Given the description of an element on the screen output the (x, y) to click on. 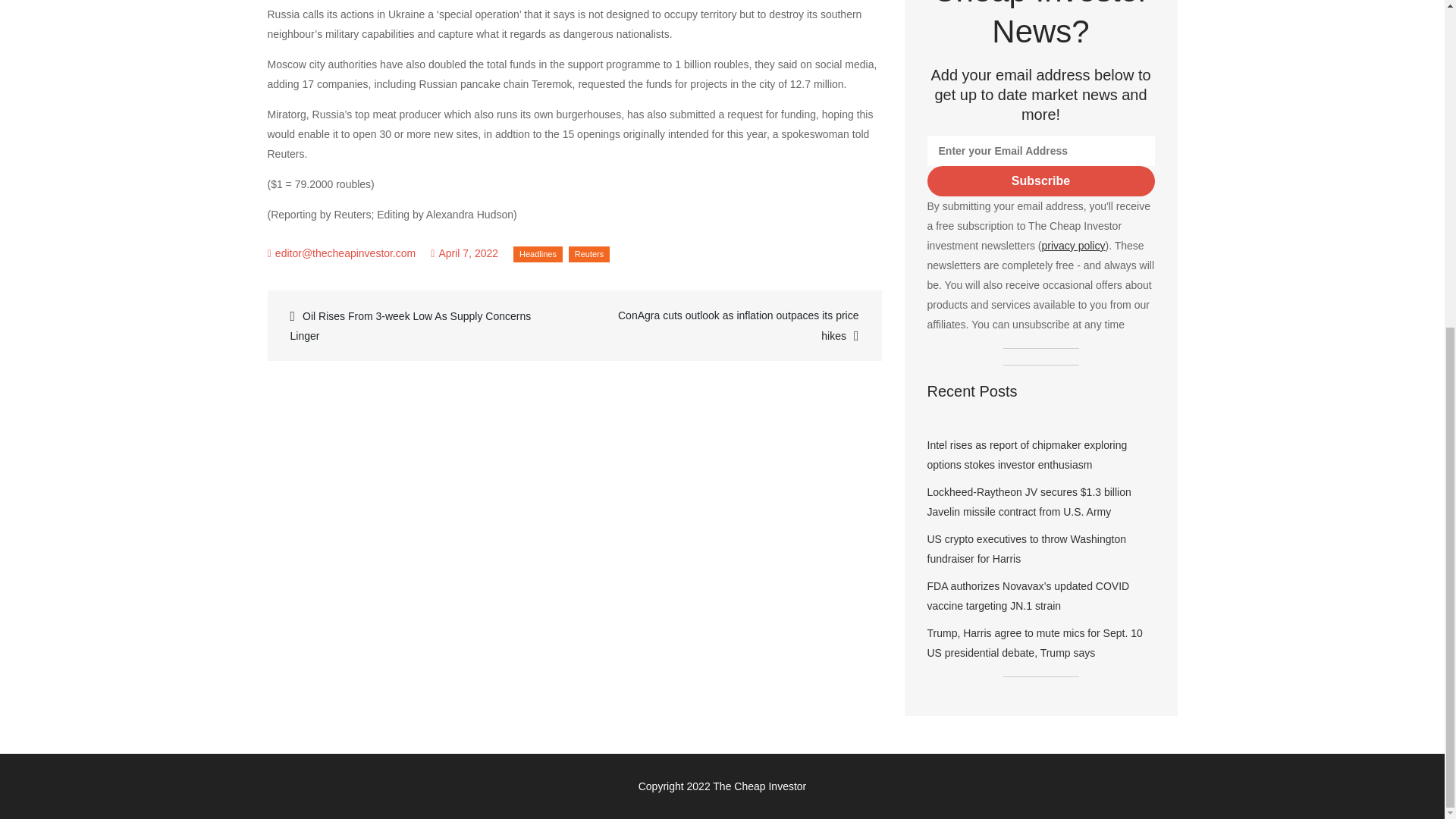
Subscribe (1040, 181)
Oil Rises From 3-week Low As Supply Concerns Linger (421, 325)
privacy policy (1073, 245)
April 7, 2022 (463, 253)
Headlines (537, 254)
Reuters (589, 254)
ConAgra cuts outlook as inflation outpaces its price hikes (725, 325)
